Given the description of an element on the screen output the (x, y) to click on. 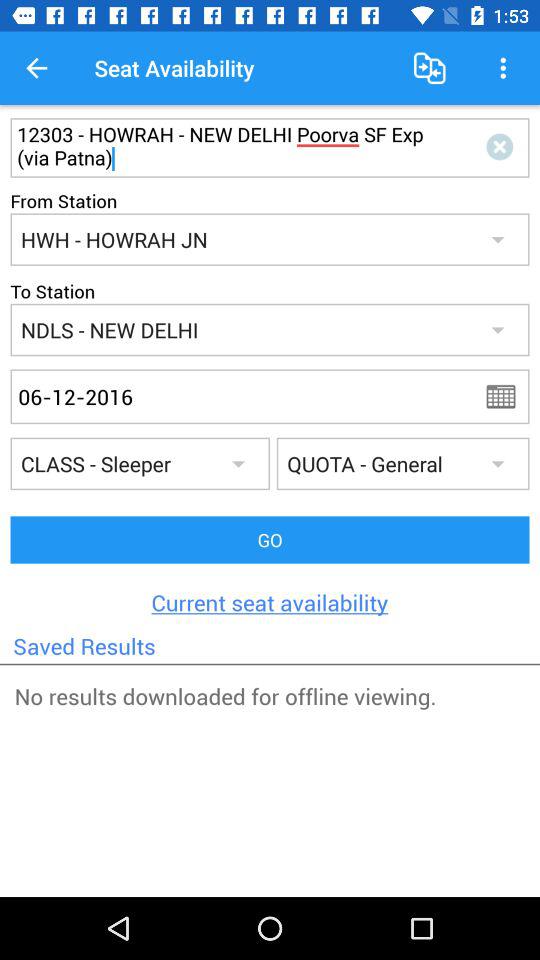
calendar menu (507, 396)
